Given the description of an element on the screen output the (x, y) to click on. 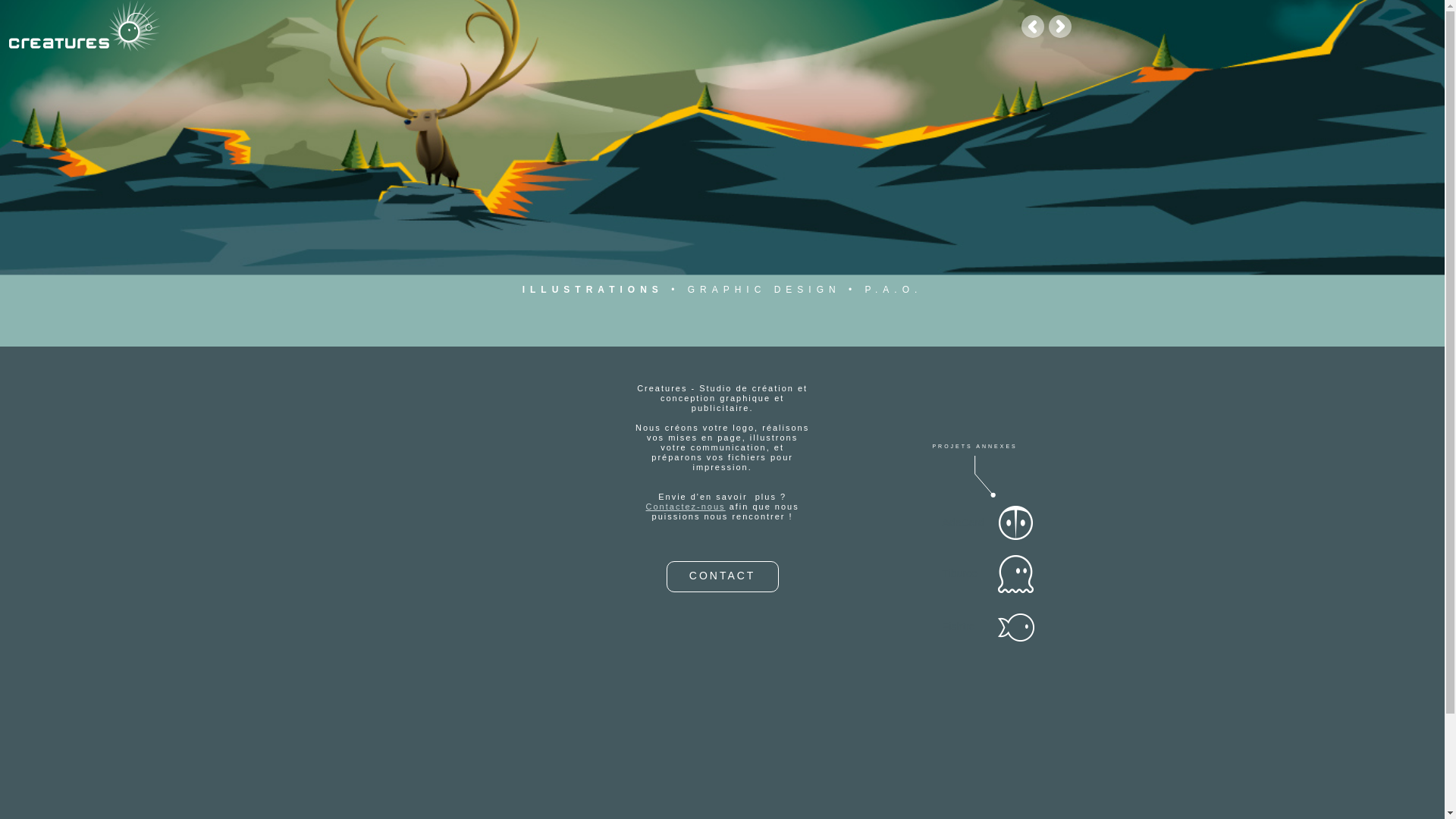
AdaCard Element type: text (988, 522)
Fishtre Element type: text (988, 626)
Contactez-nous Element type: text (685, 506)
Tiburce Element type: text (988, 573)
CONTACT Element type: text (722, 576)
